Given the description of an element on the screen output the (x, y) to click on. 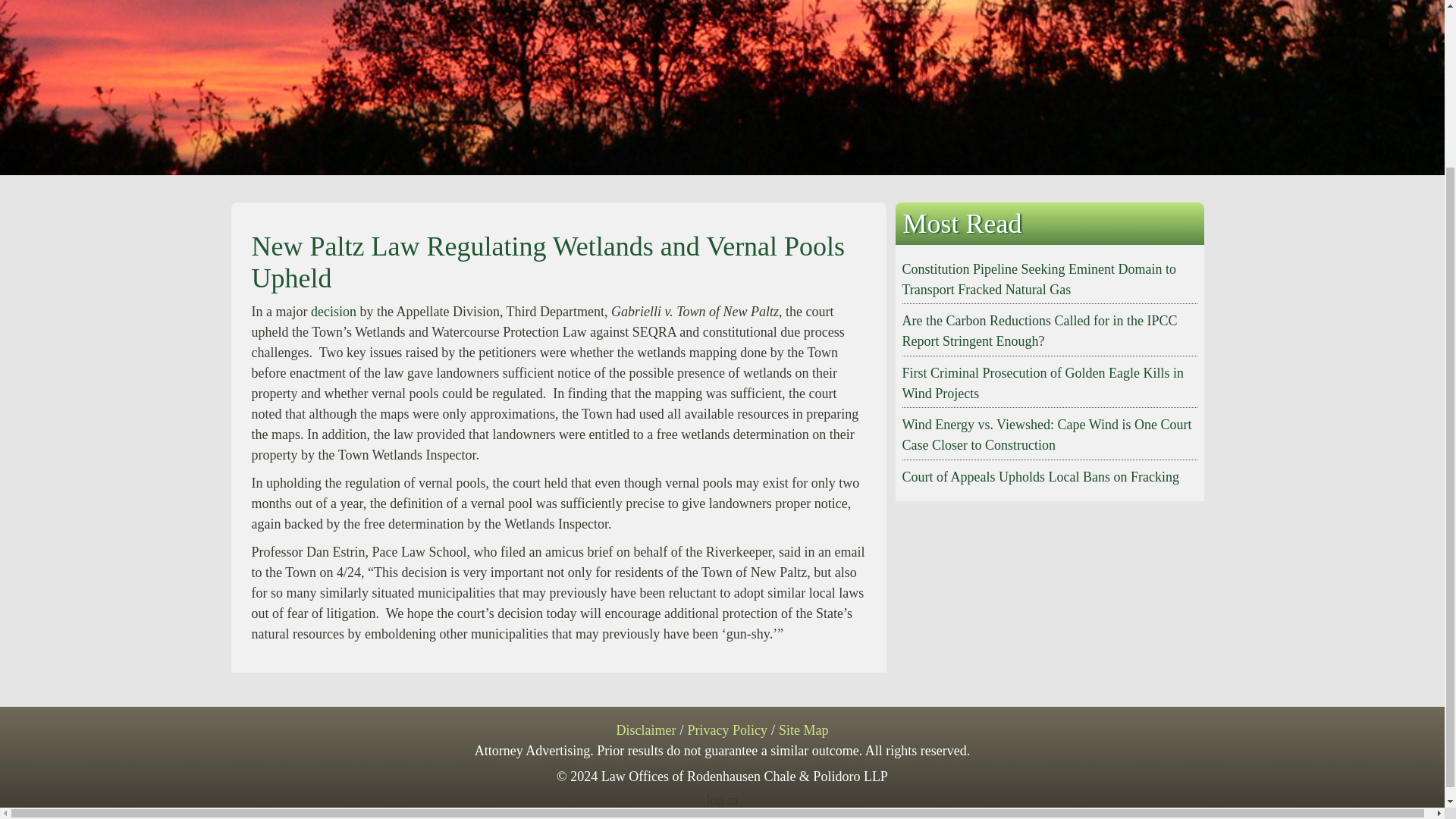
Disclaimer (645, 729)
decision (335, 311)
Privacy Policy (727, 729)
Court of Appeals Upholds Local Bans on Fracking (1040, 476)
log in (722, 799)
Site Map (803, 729)
